Given the description of an element on the screen output the (x, y) to click on. 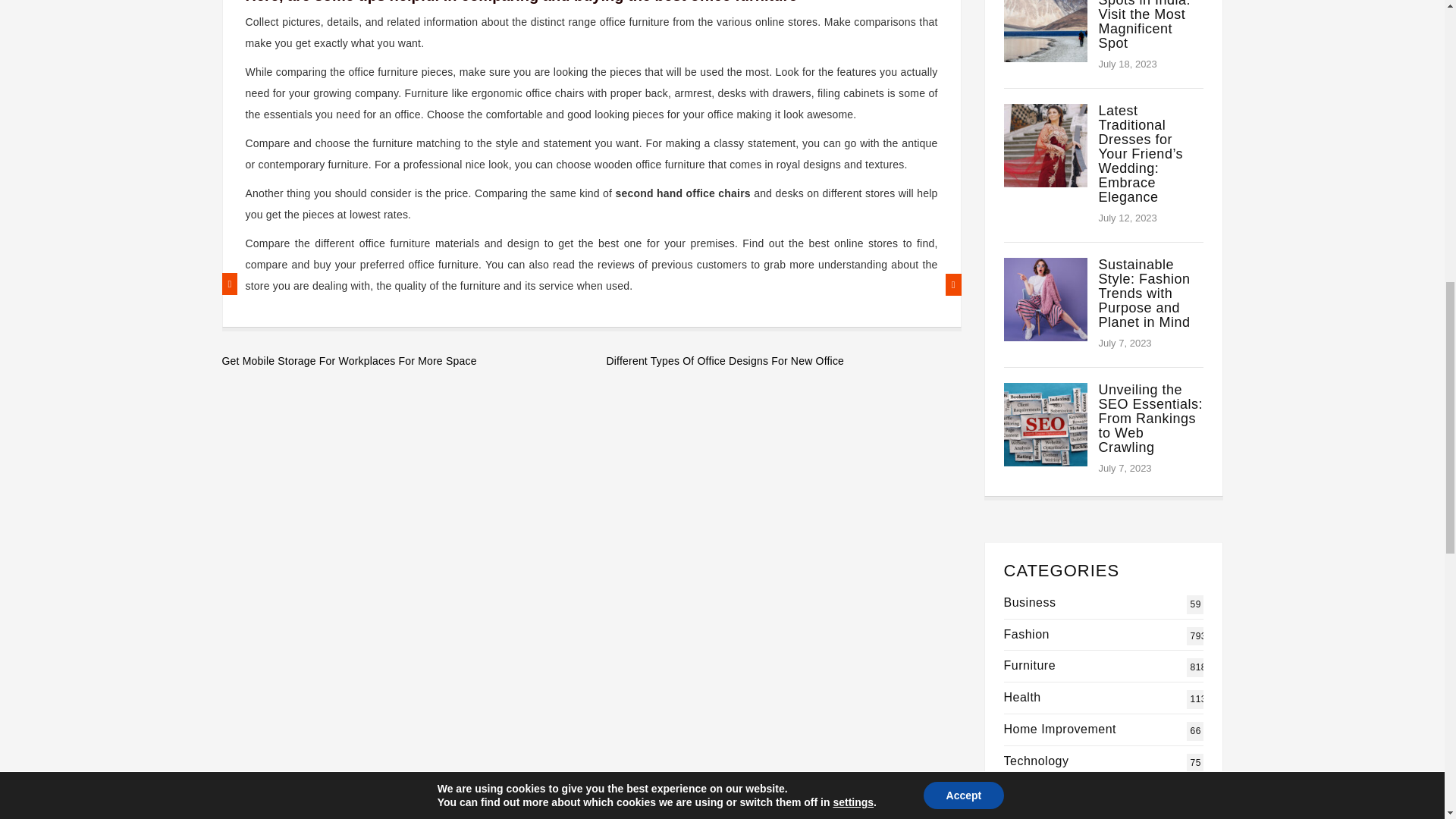
Technology (1036, 760)
Unveiling the SEO Essentials: From Rankings to Web Crawling (1036, 760)
Furniture (1149, 418)
Different Types Of Office Designs For New Office (1030, 665)
Home Improvement (1026, 634)
Unveiling the SEO Essentials: From Rankings to Web Crawling (783, 360)
Health (1060, 728)
